Given the description of an element on the screen output the (x, y) to click on. 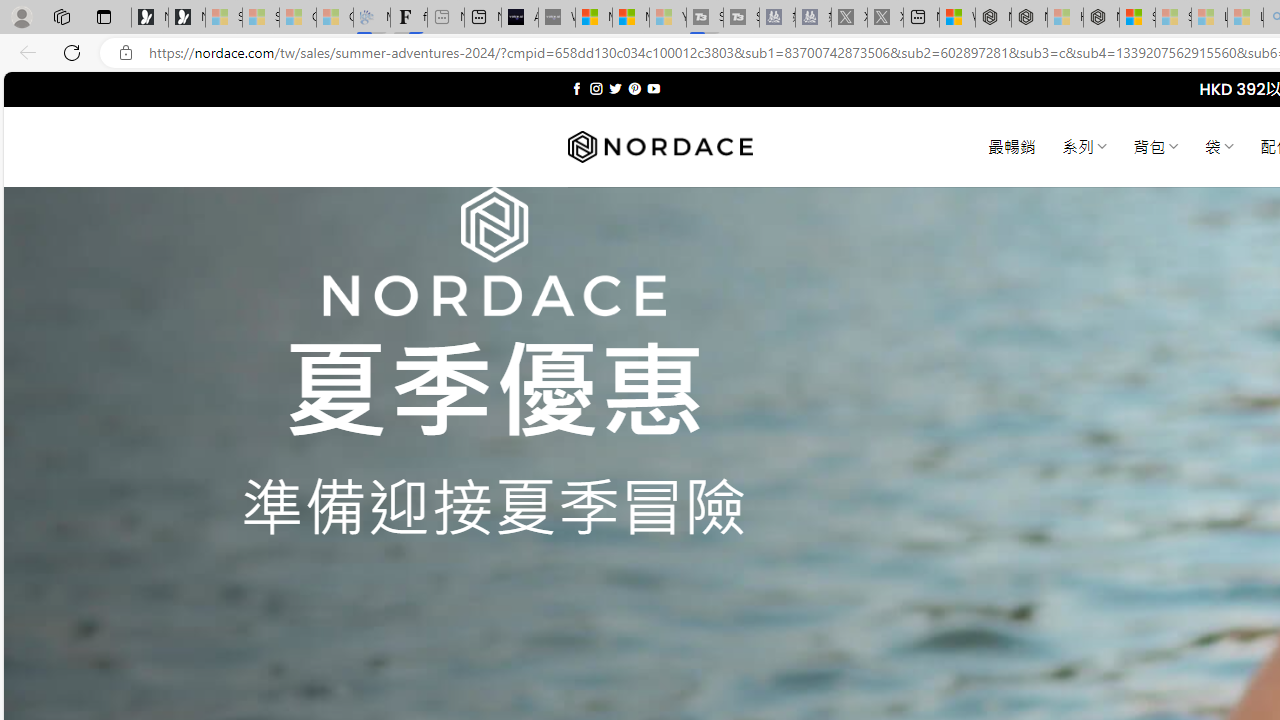
Nordace - Nordace Siena Is Not An Ordinary Backpack (1101, 17)
AI Voice Changer for PC and Mac - Voice.ai (519, 17)
